Given the description of an element on the screen output the (x, y) to click on. 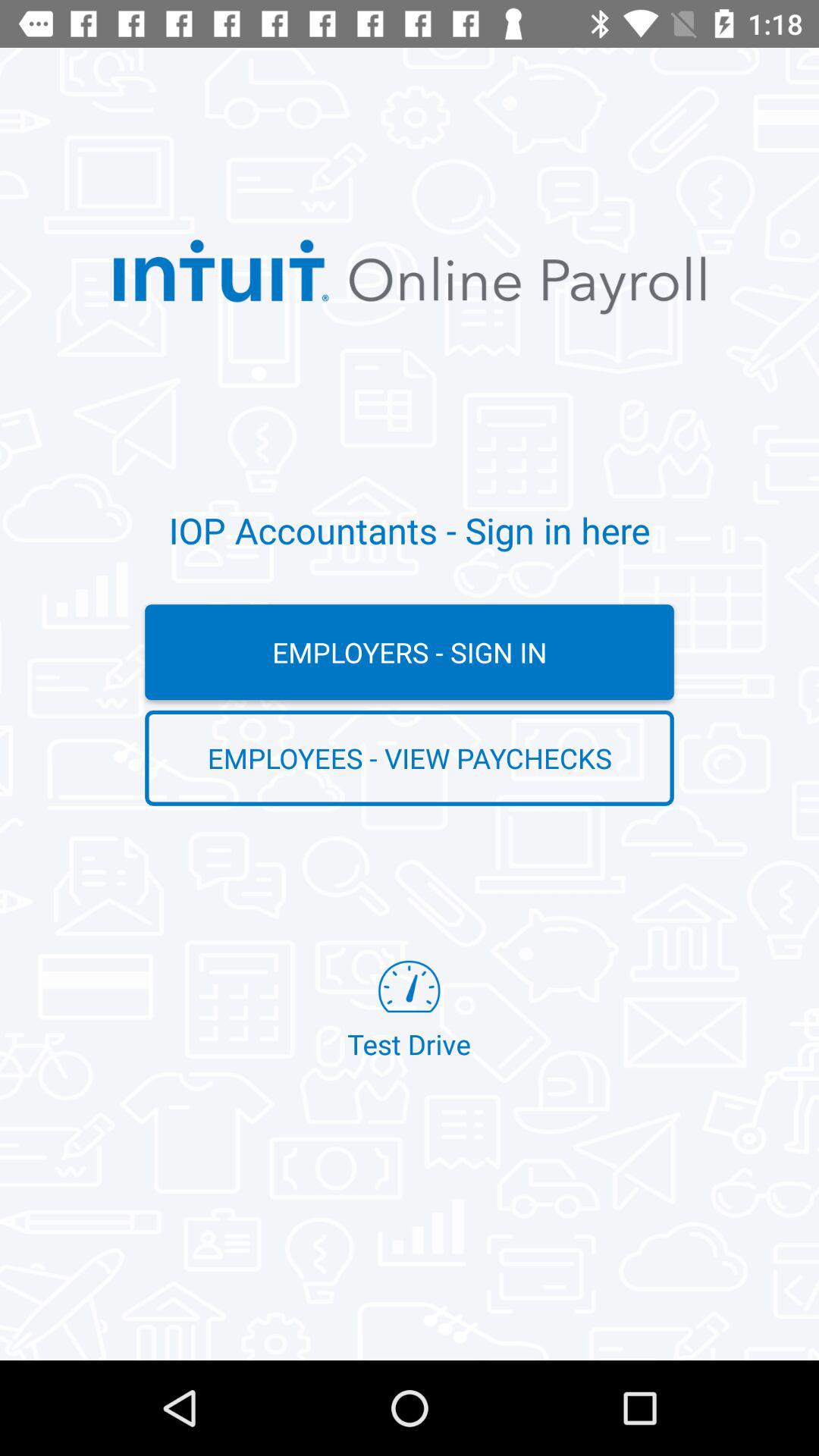
press icon below the employers - sign in (409, 757)
